Given the description of an element on the screen output the (x, y) to click on. 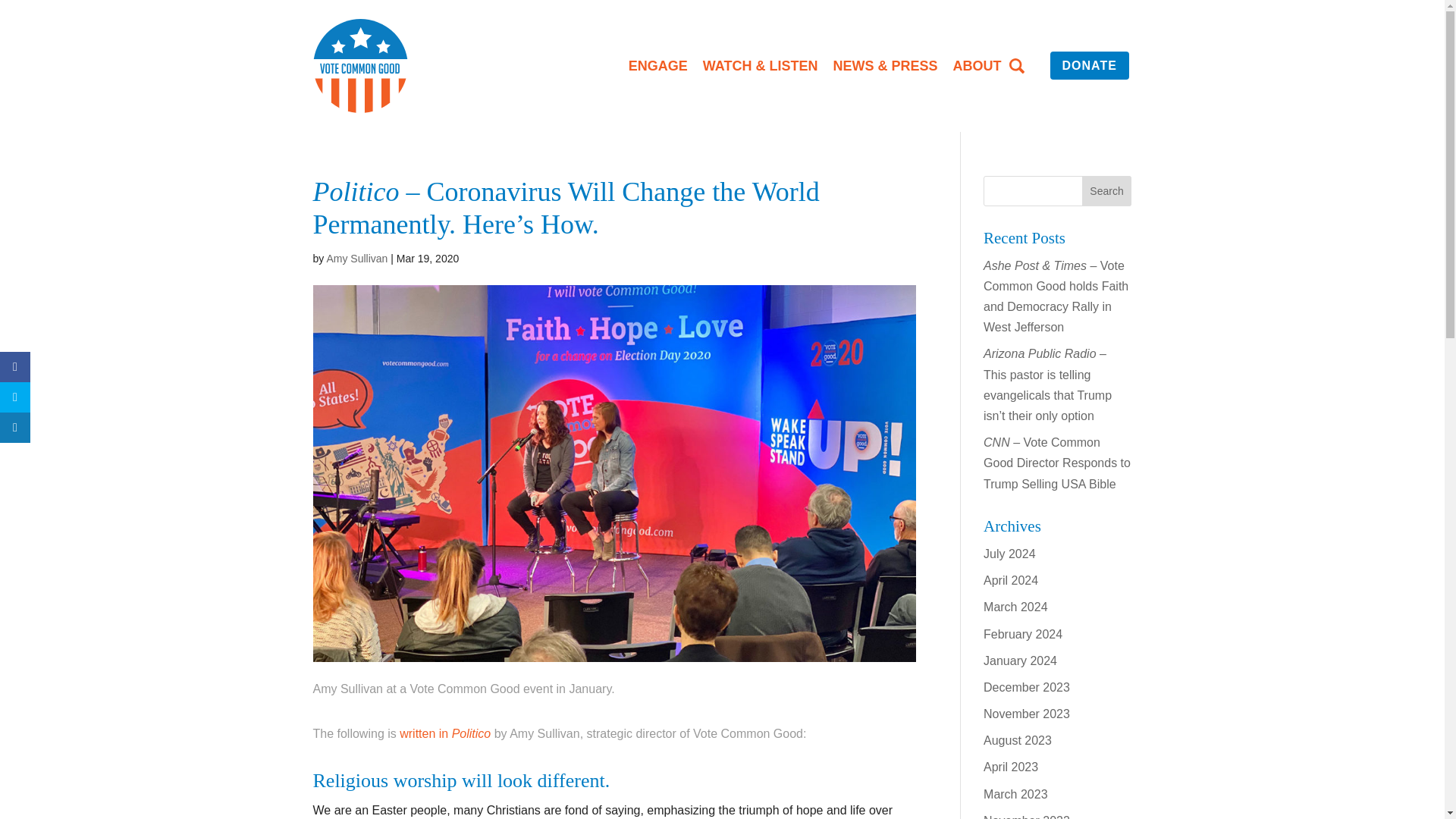
Search (1106, 191)
DONATE (1088, 65)
ABOUT (976, 65)
ENGAGE (658, 65)
Posts by Amy Sullivan (356, 258)
